Given the description of an element on the screen output the (x, y) to click on. 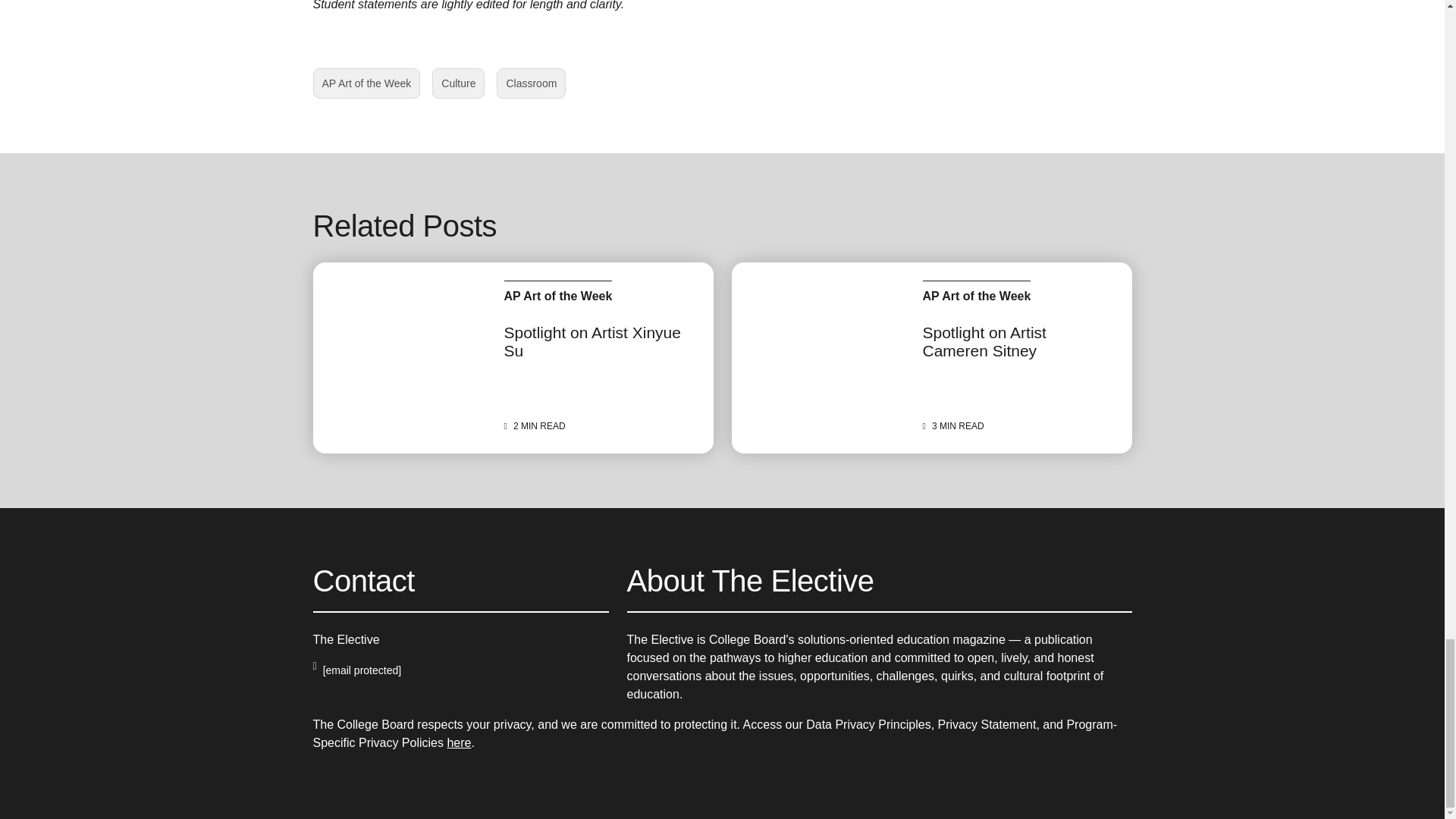
here (458, 82)
